Given the description of an element on the screen output the (x, y) to click on. 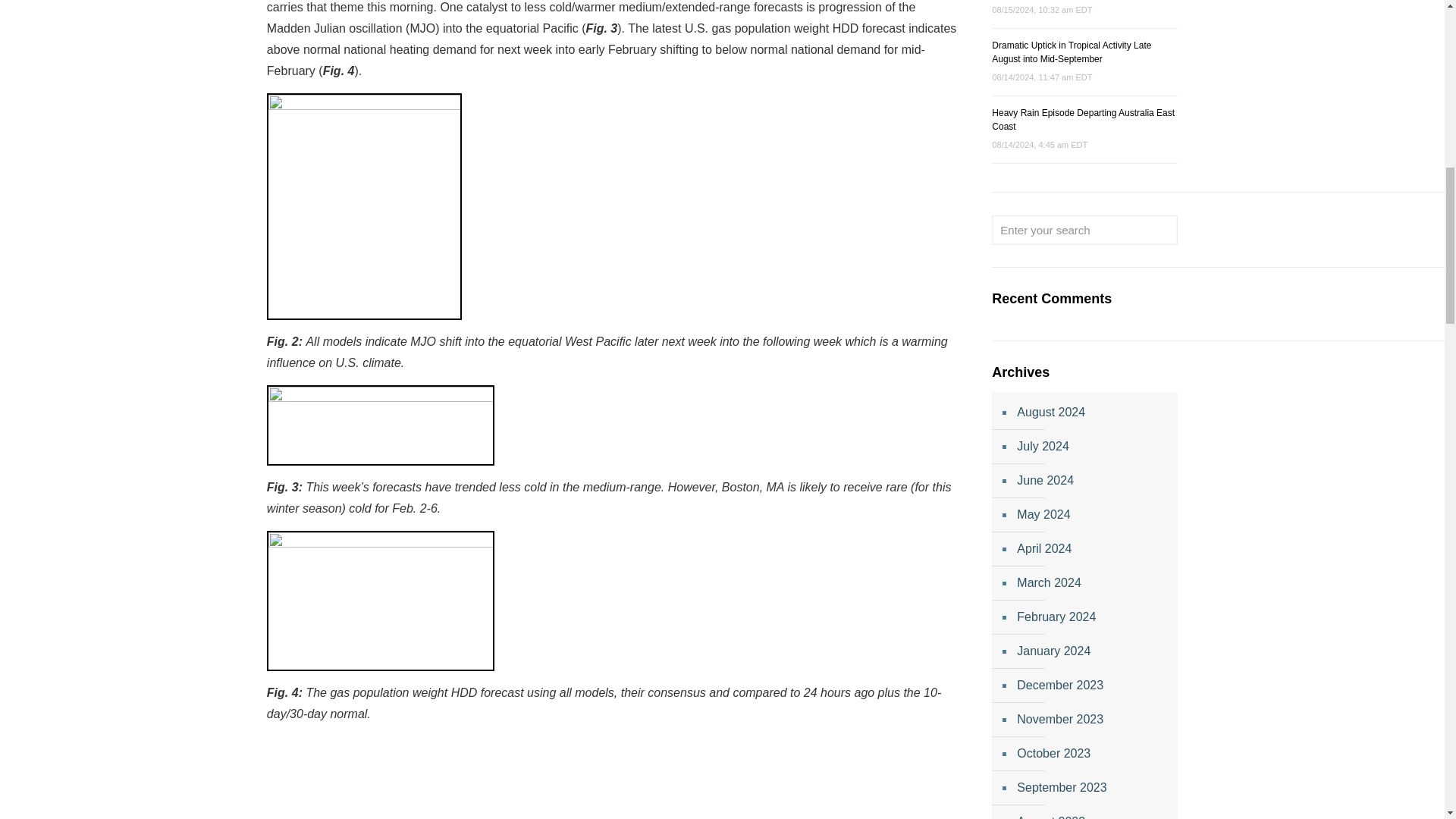
February 2024 (1091, 617)
August 2024 (1091, 412)
November 2023 (1091, 719)
January 2024 (1091, 651)
March 2024 (1091, 583)
May 2024 (1091, 514)
September 2023 (1091, 788)
July 2024 (1091, 446)
December 2023 (1091, 685)
October 2023 (1091, 754)
